Given the description of an element on the screen output the (x, y) to click on. 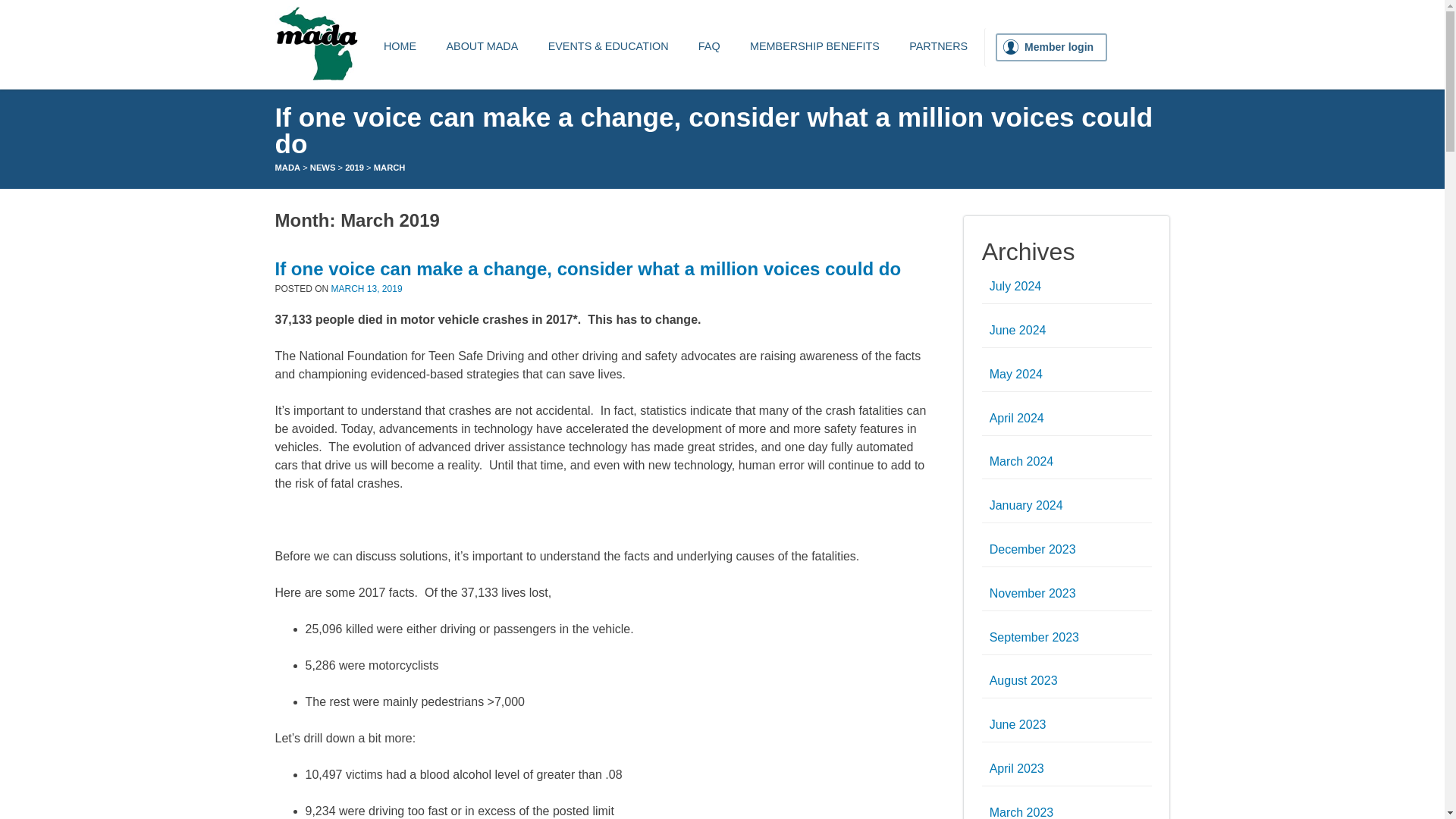
ABOUT MADA (482, 46)
NEWS (323, 166)
Go to News. (323, 166)
July 2024 (1016, 286)
Go to the 2019 archives. (354, 166)
2019 (354, 166)
June 2024 (1018, 329)
MEMBERSHIP BENEFITS (814, 46)
Member login (1050, 47)
